Given the description of an element on the screen output the (x, y) to click on. 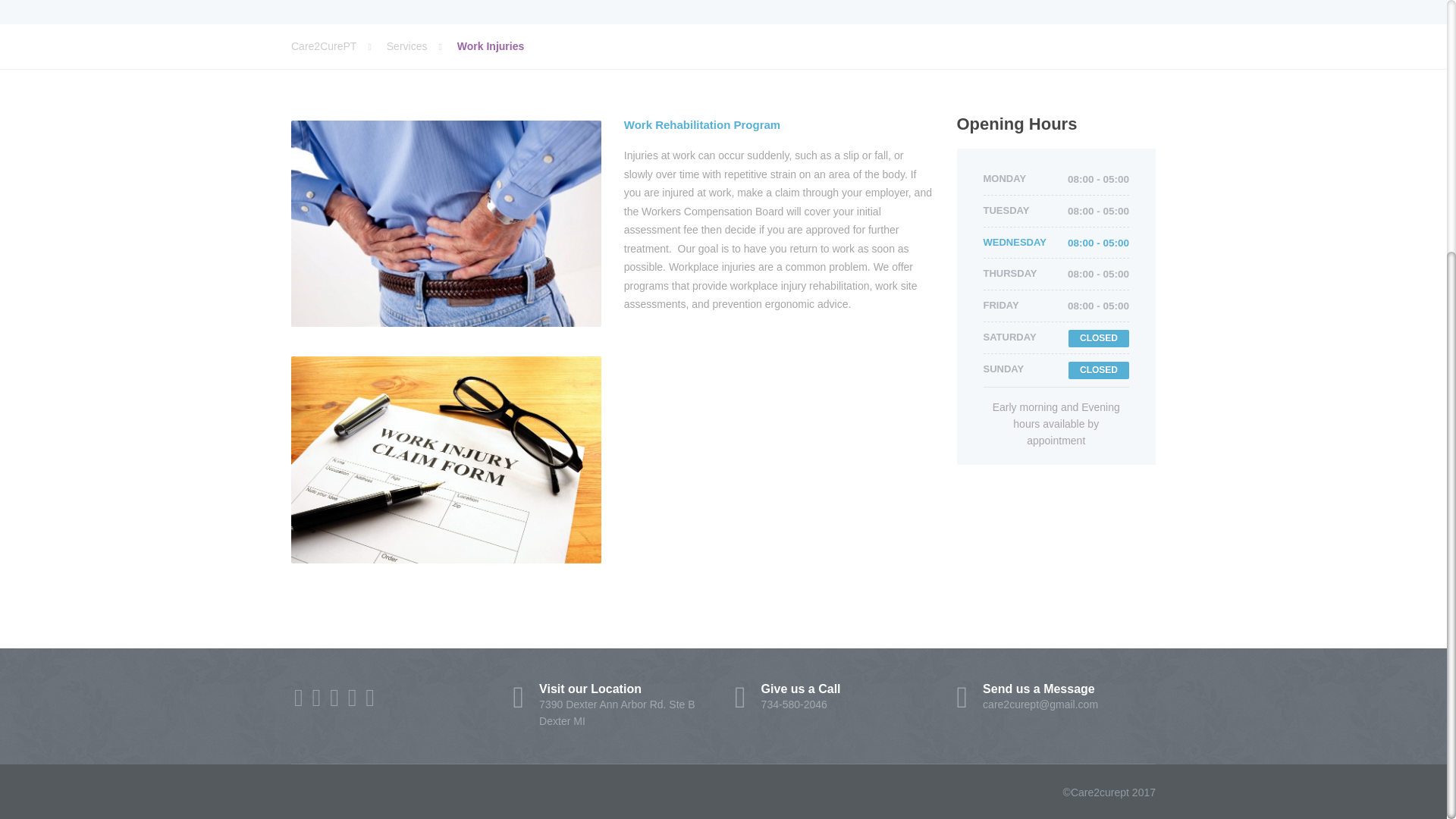
Services (422, 45)
Go to Services. (422, 45)
Go to Care2CurePT. (339, 45)
Care2CurePT (834, 697)
